Given the description of an element on the screen output the (x, y) to click on. 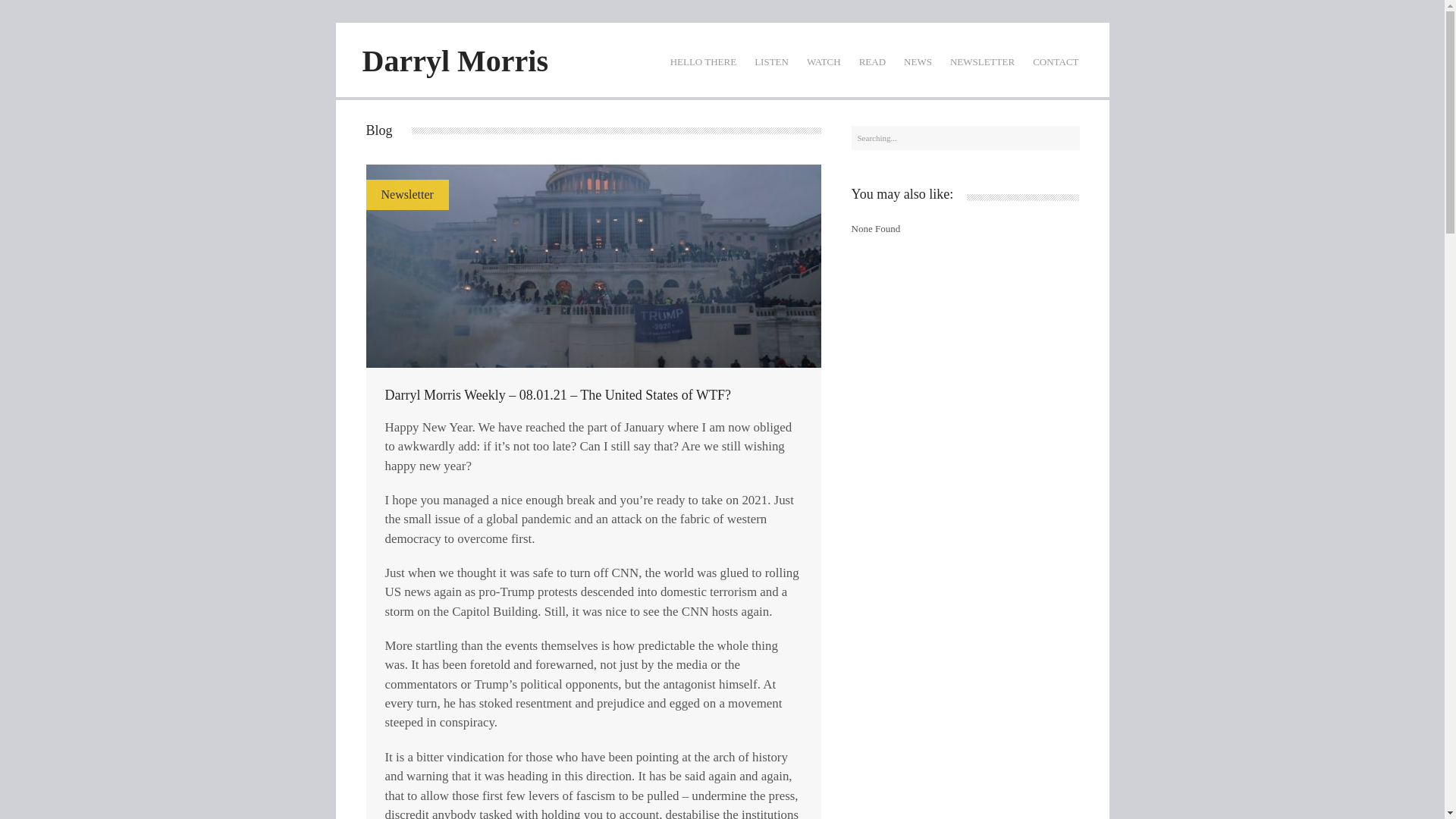
READ (872, 61)
NEWSLETTER (981, 61)
Click for Home (455, 60)
CONTACT (1055, 61)
NEWS (917, 61)
Searching... (964, 137)
HELLO THERE (703, 61)
LISTEN (771, 61)
Darryl Morris (455, 60)
WATCH (823, 61)
